Given the description of an element on the screen output the (x, y) to click on. 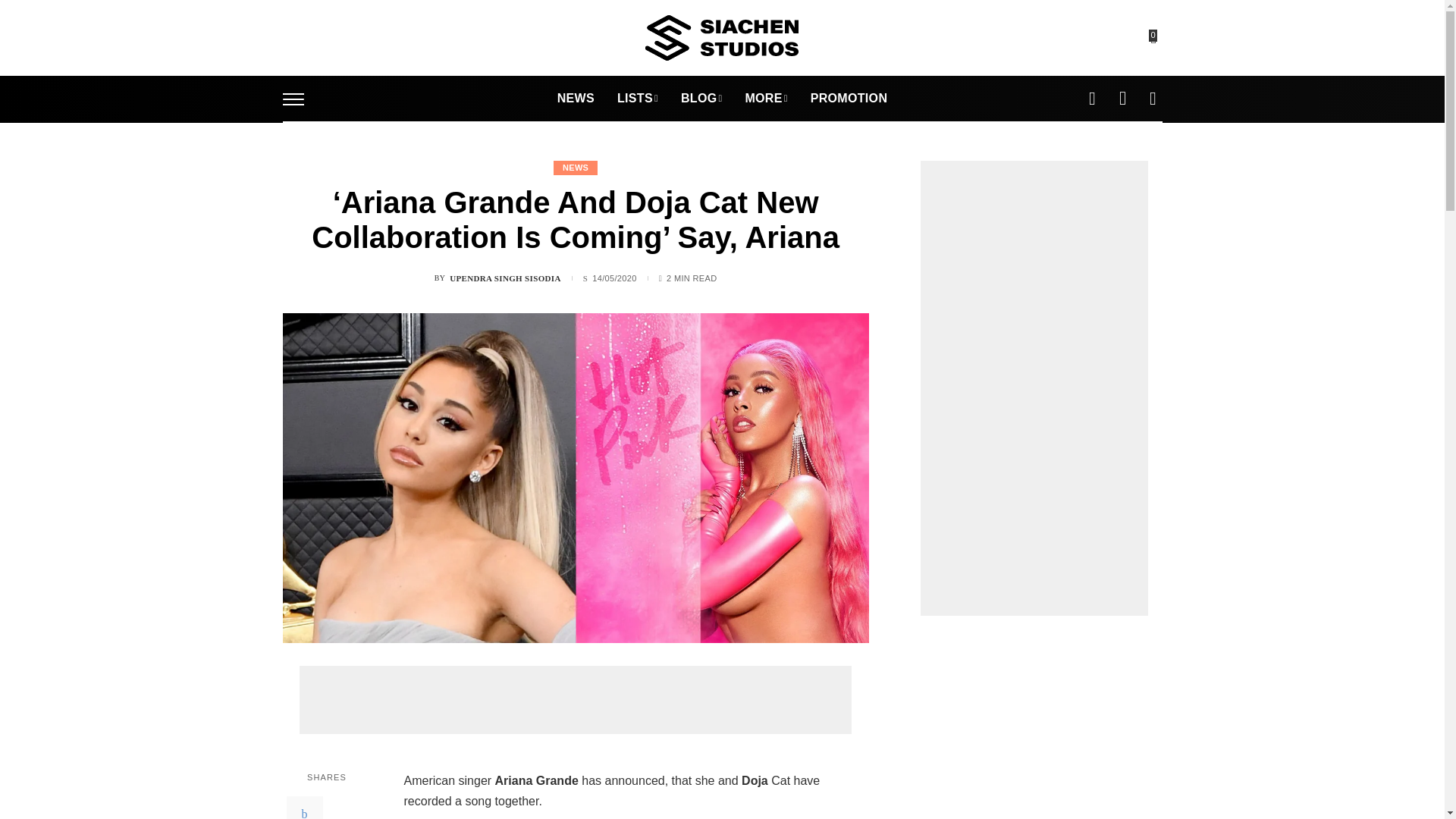
NEWS (575, 98)
Siachen Studios (721, 37)
LISTS (637, 98)
